Given the description of an element on the screen output the (x, y) to click on. 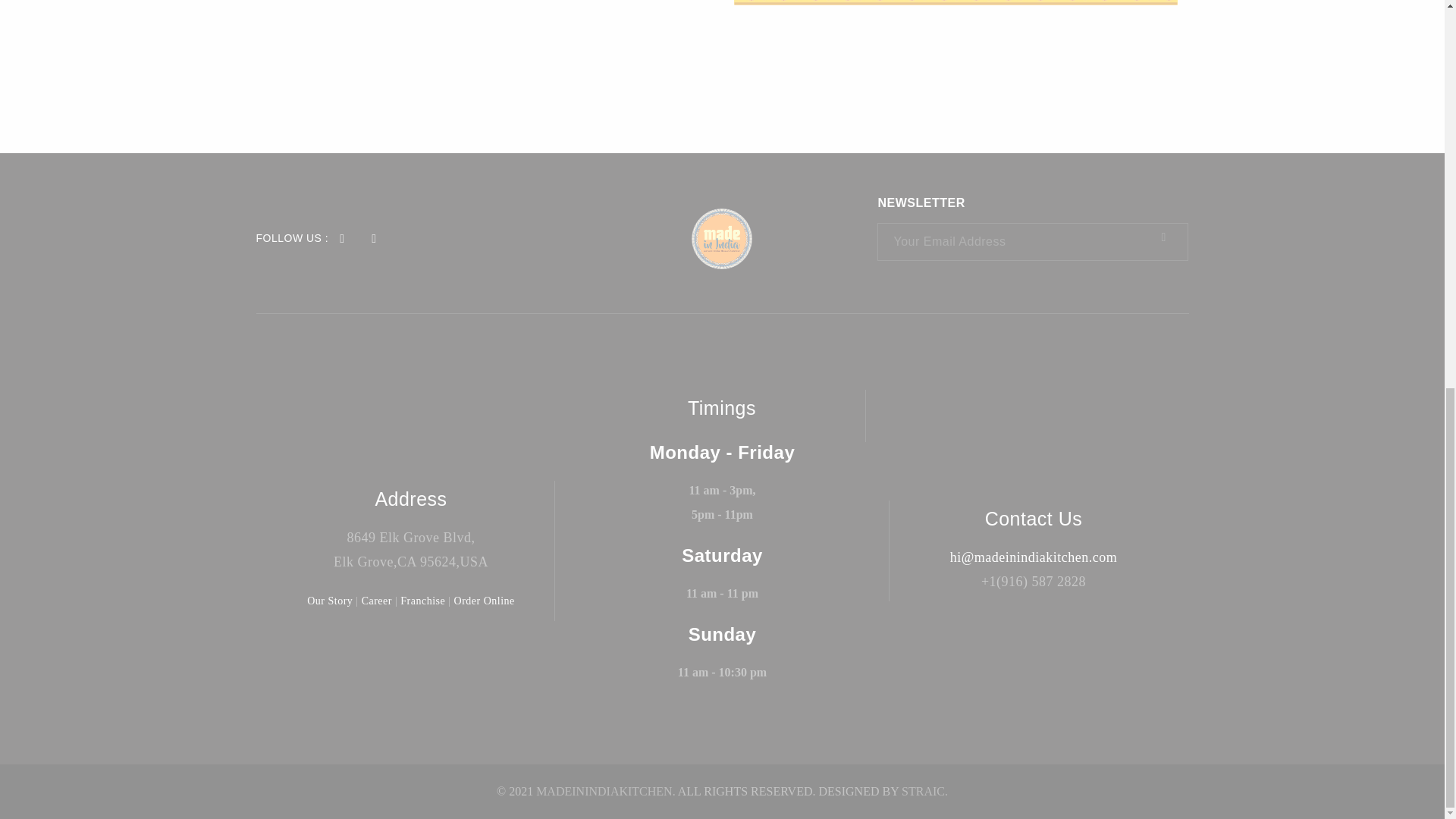
MADEININDIAKITCHEN. (605, 790)
Career (376, 600)
Order Online (484, 600)
STRAIC. (924, 790)
Franchise (422, 600)
Our Story (329, 600)
